Given the description of an element on the screen output the (x, y) to click on. 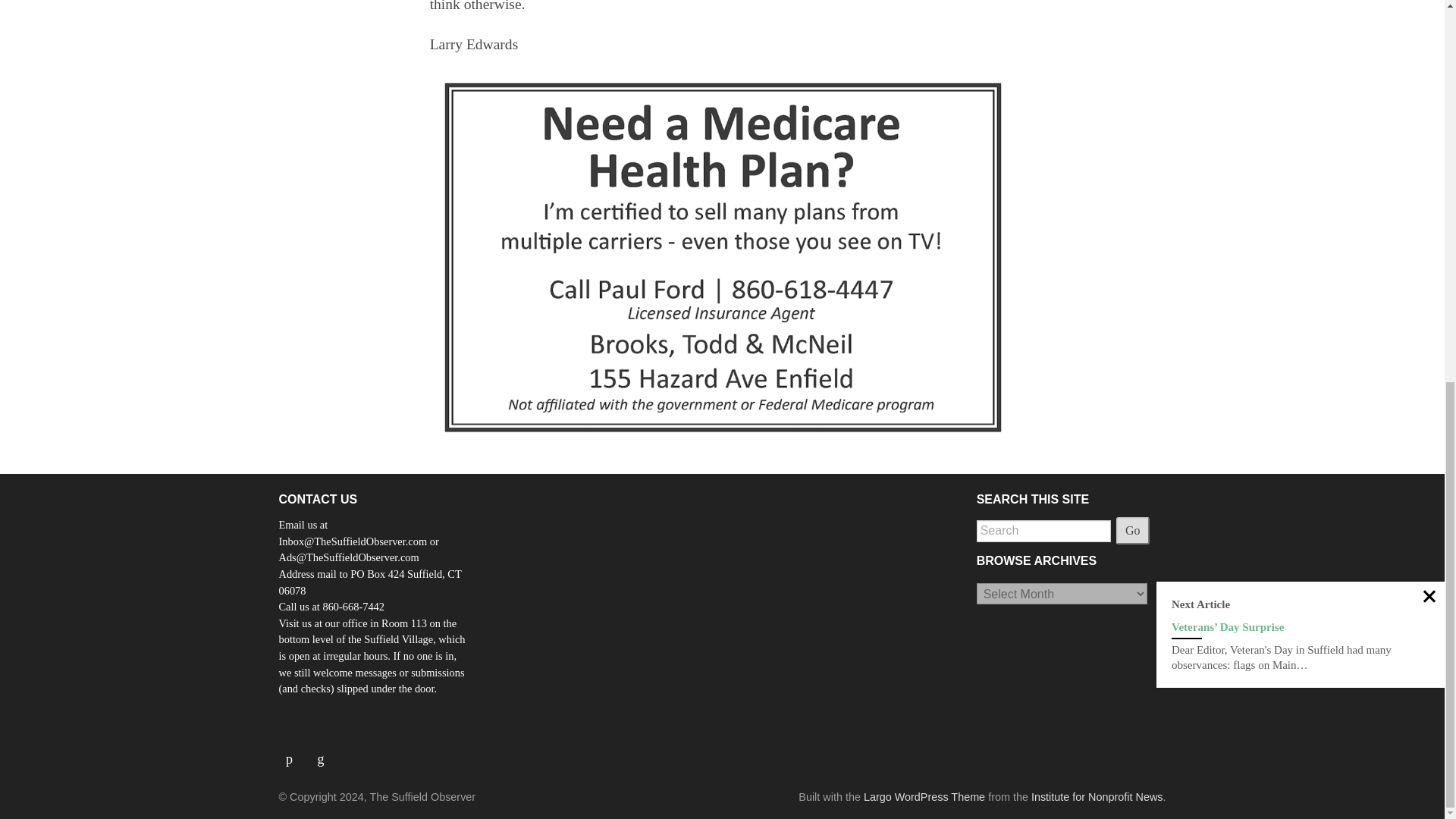
Link to Facebook Profile (295, 752)
Link to RSS Feed (322, 752)
